Given the description of an element on the screen output the (x, y) to click on. 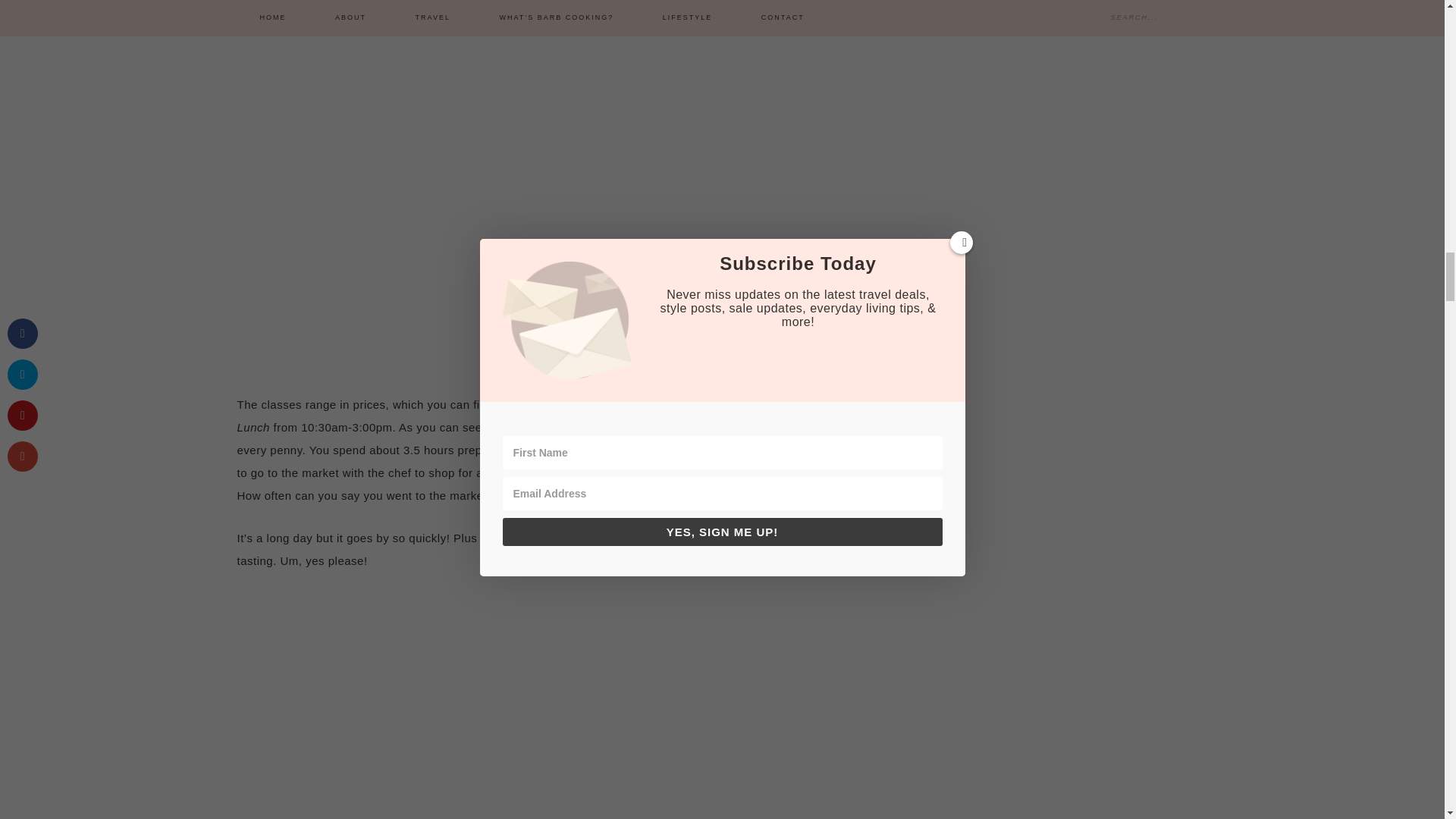
here (508, 404)
